Given the description of an element on the screen output the (x, y) to click on. 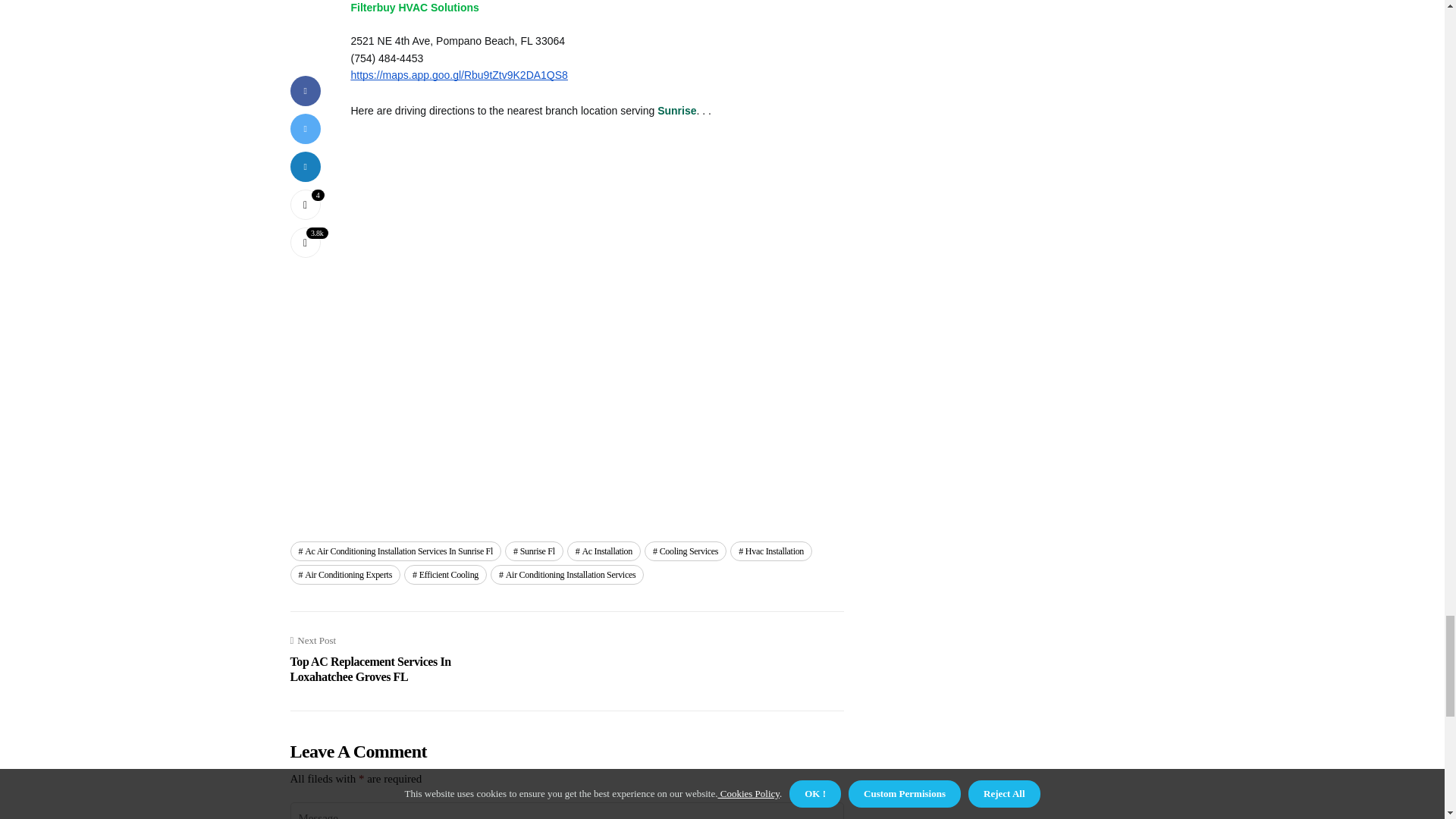
Ac Air Conditioning Installation Services In Sunrise Fl (394, 551)
Cooling Services (685, 551)
Sunrise Fl (534, 551)
Hvac Installation (771, 551)
Air Conditioning Experts (344, 574)
Efficient Cooling (445, 574)
Air Conditioning Installation Services (566, 574)
Ac Installation (603, 551)
